Given the description of an element on the screen output the (x, y) to click on. 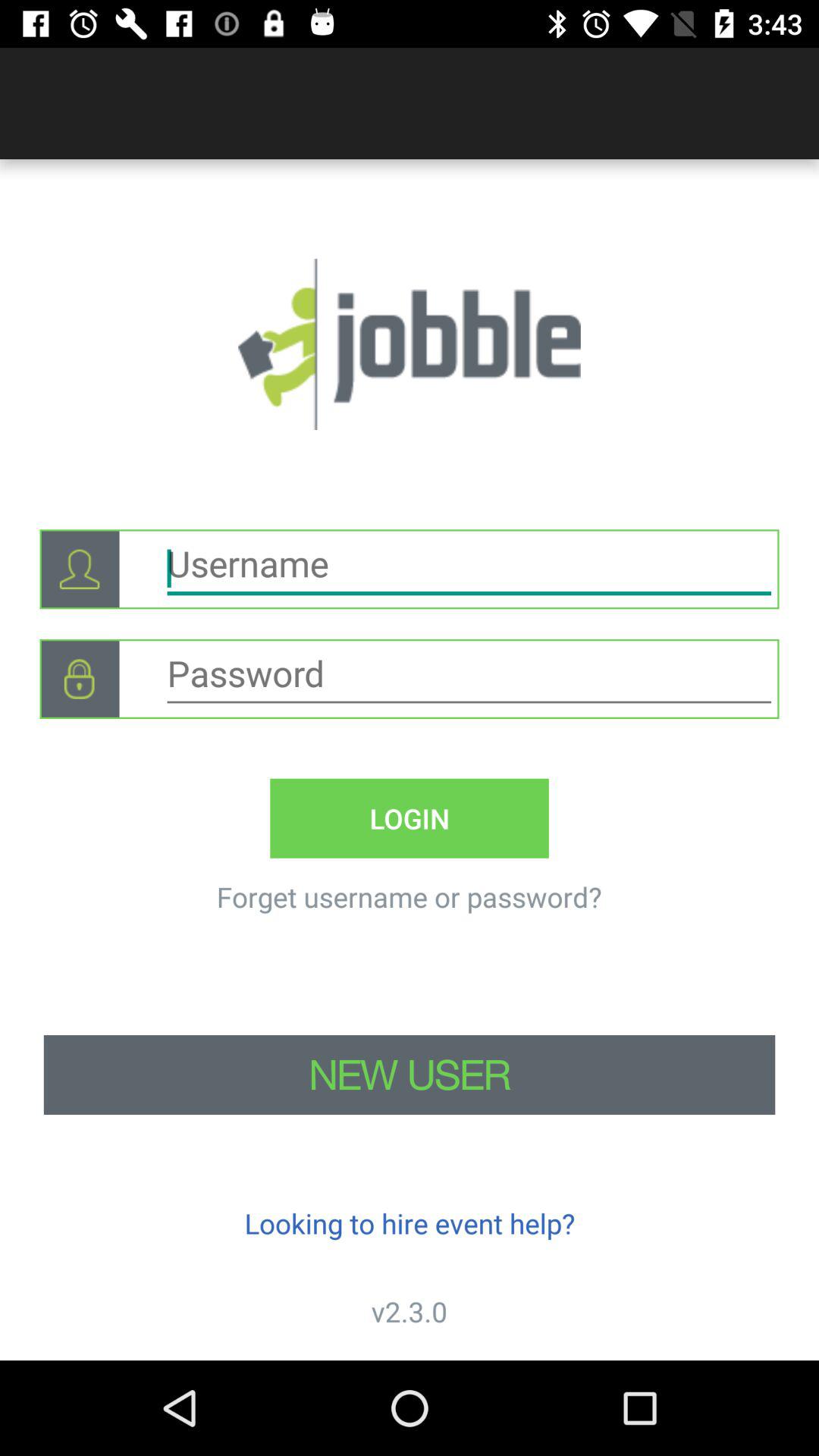
turn on icon above v2.3.0 (409, 1223)
